Given the description of an element on the screen output the (x, y) to click on. 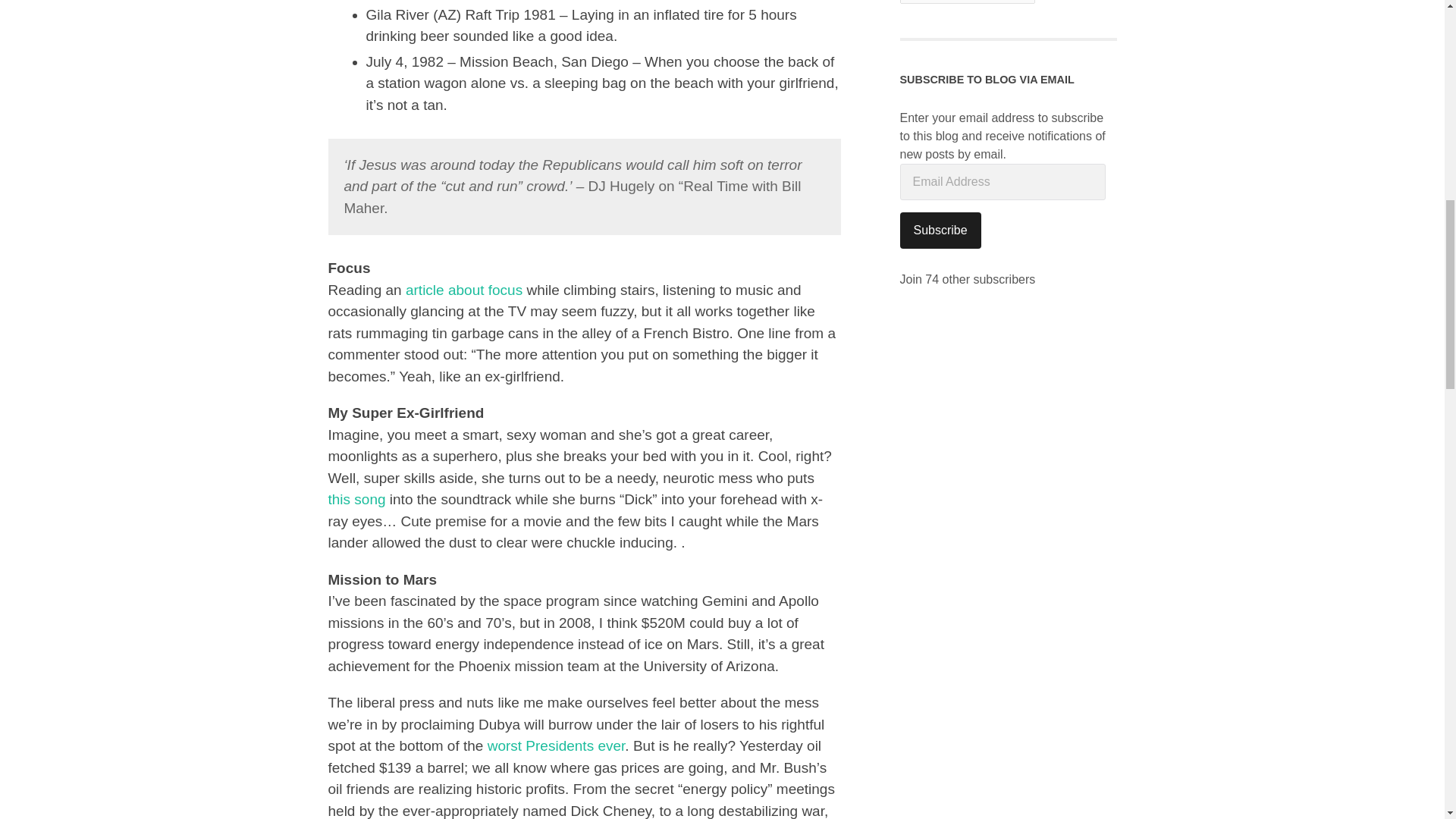
this song (356, 498)
article about focus (464, 289)
worst Presidents ever (556, 745)
Subscribe (939, 230)
